Given the description of an element on the screen output the (x, y) to click on. 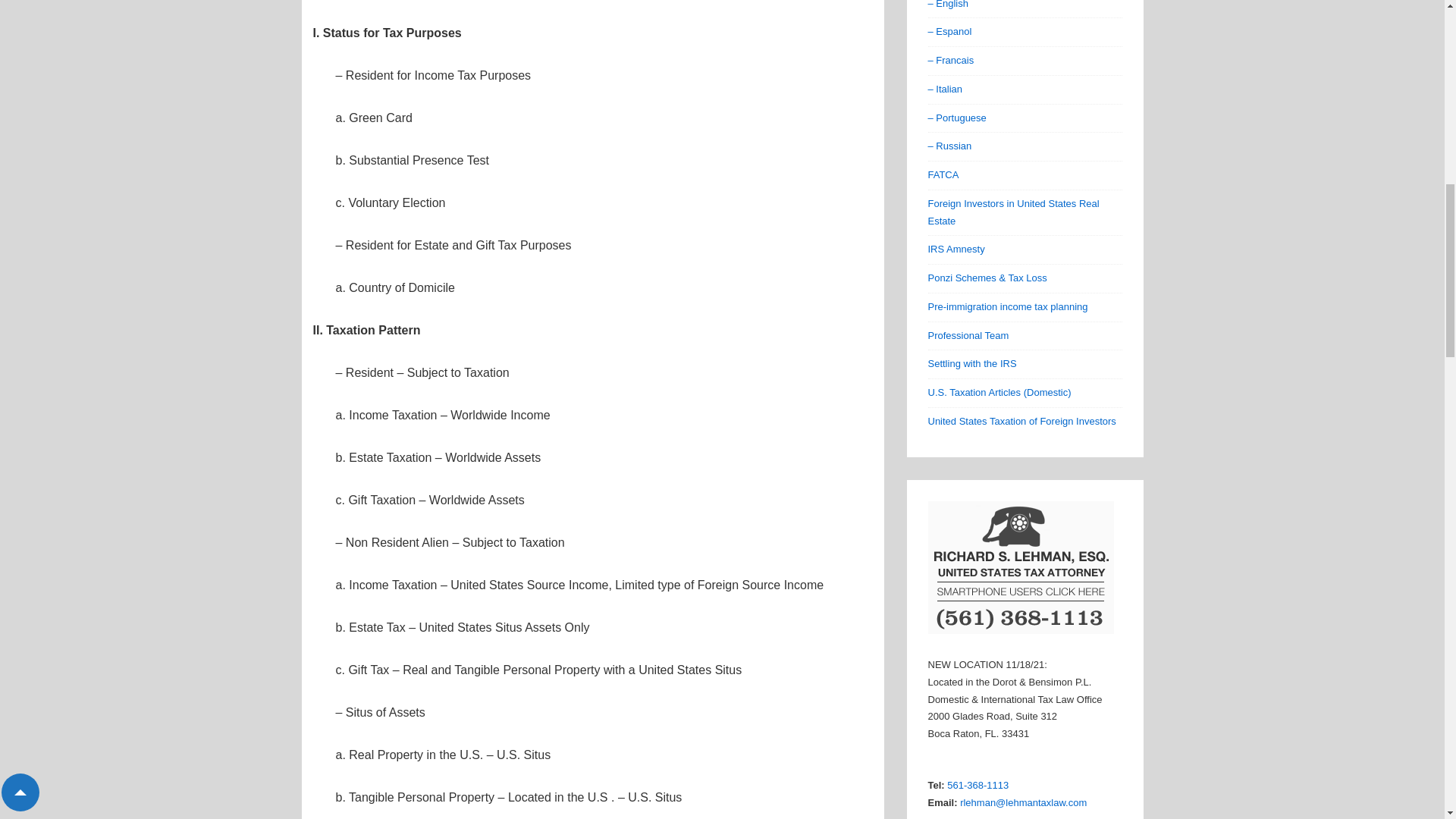
Telephone (978, 785)
Contact Richard Lehman via email (1022, 802)
